Given the description of an element on the screen output the (x, y) to click on. 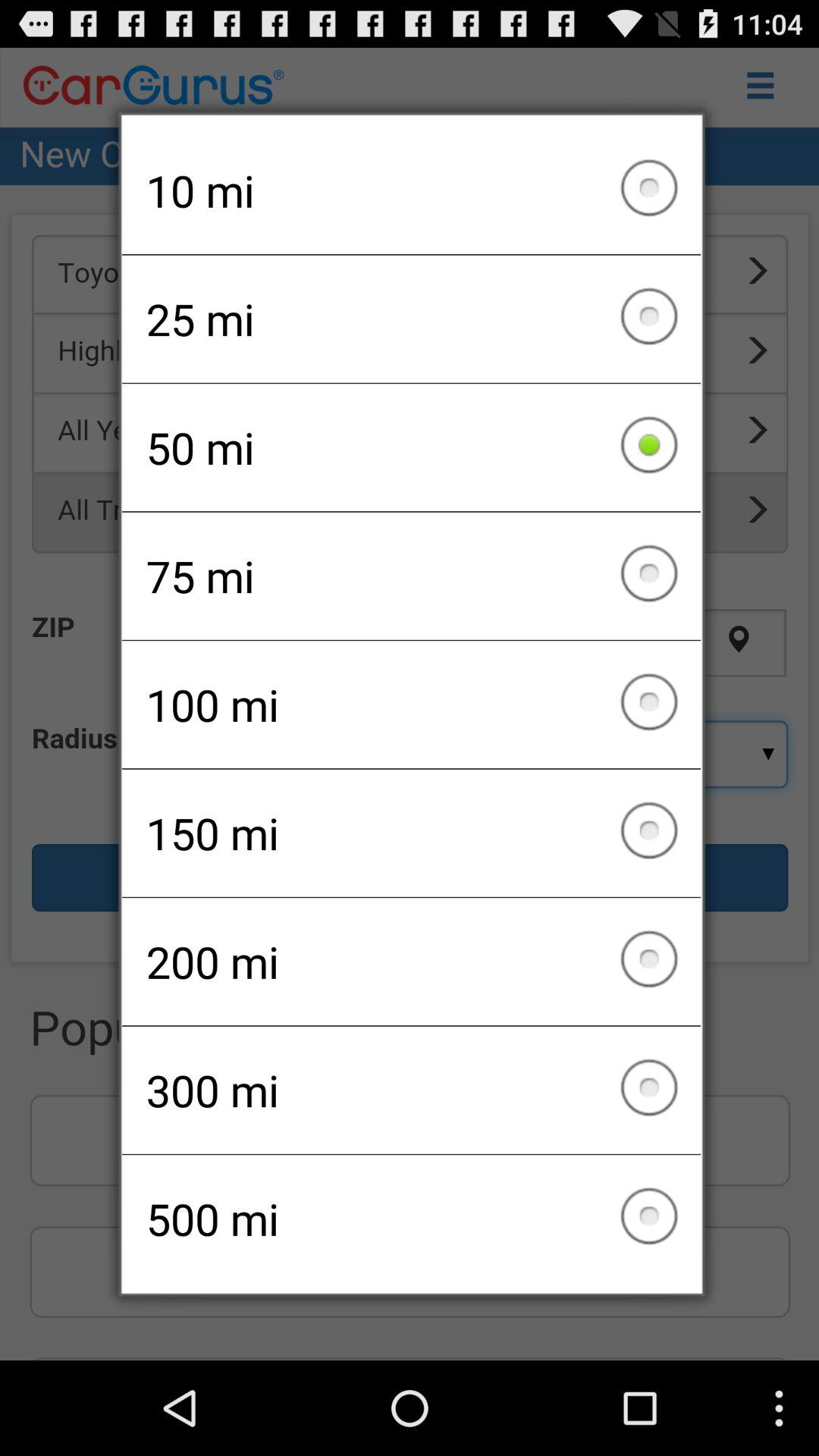
click the checkbox below 10 mi checkbox (411, 318)
